Given the description of an element on the screen output the (x, y) to click on. 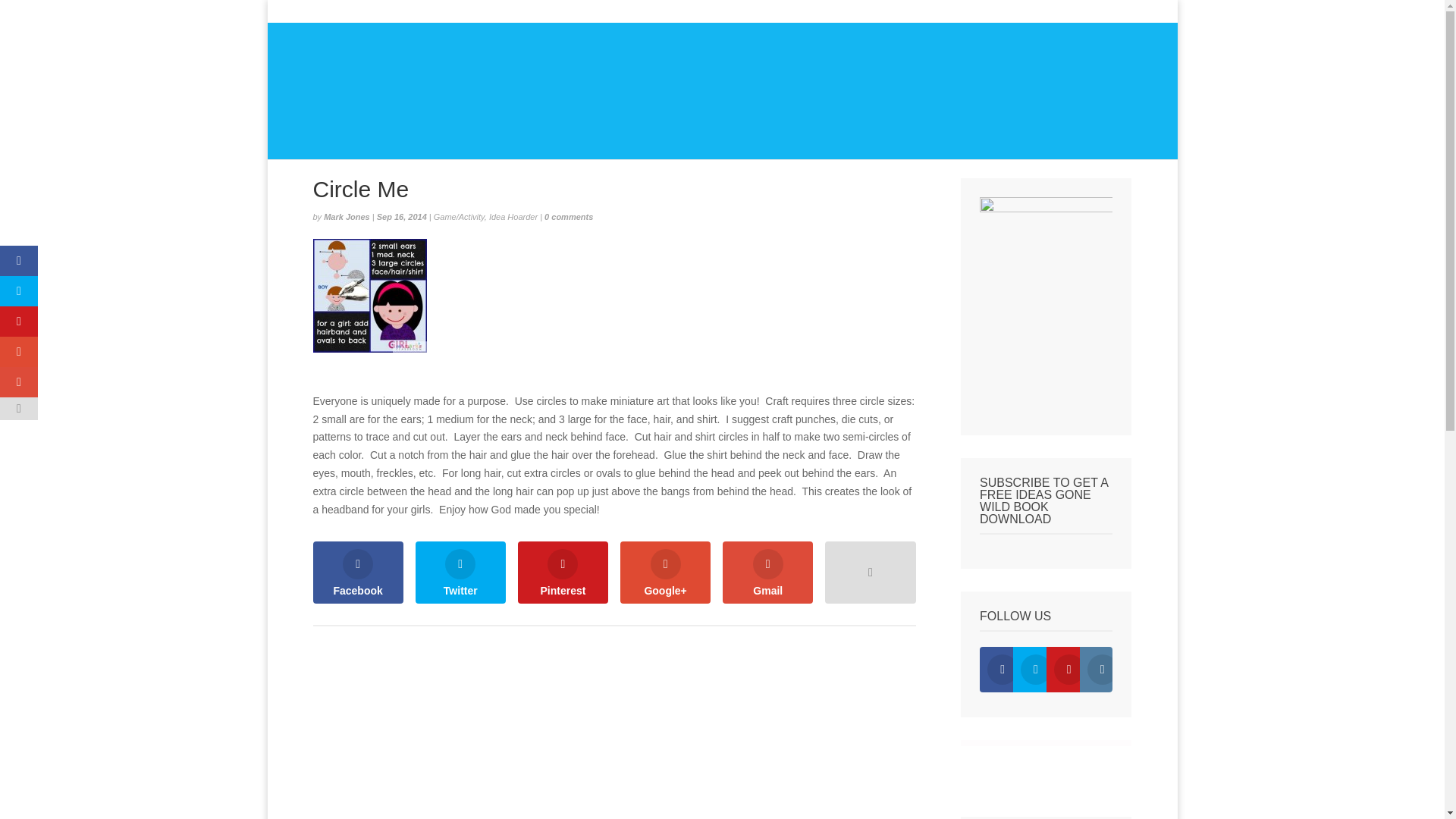
Contact Us (1043, 14)
Mark Jones (346, 216)
0 Items (1108, 10)
Shop (899, 14)
Gmail (767, 572)
0 comments (568, 216)
Twitter (459, 572)
Pinterest (563, 572)
Weekly Tips (654, 14)
Mr. Mark's Classroom Welcome Video (1045, 353)
